Given the description of an element on the screen output the (x, y) to click on. 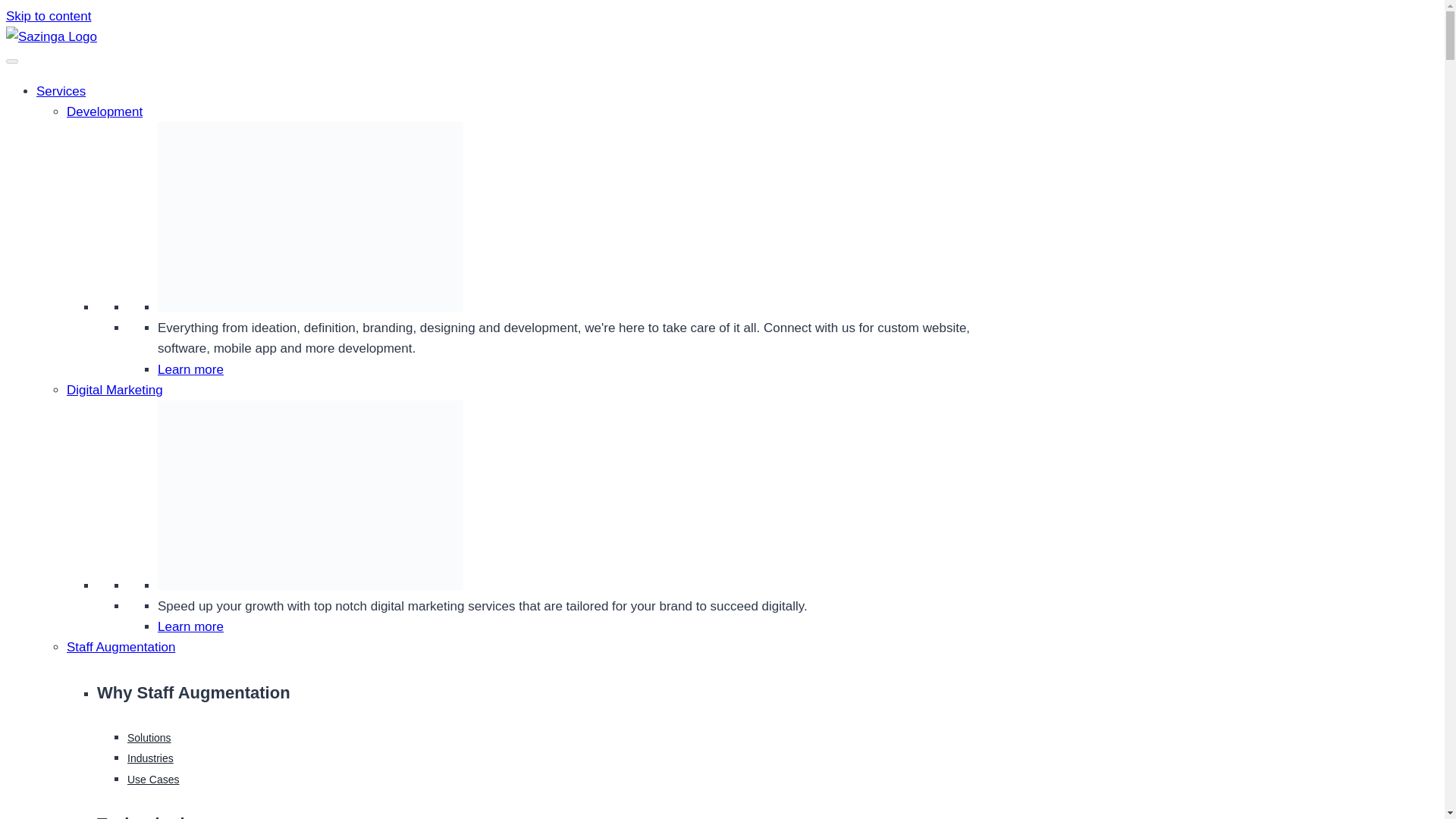
Services (60, 91)
Solutions (149, 737)
Use Cases (153, 779)
Learn more (190, 626)
Industries (150, 758)
Learn more (190, 369)
Skip to content (47, 16)
Skip to content (47, 16)
Staff Augmentation (120, 646)
Development (104, 111)
